Given the description of an element on the screen output the (x, y) to click on. 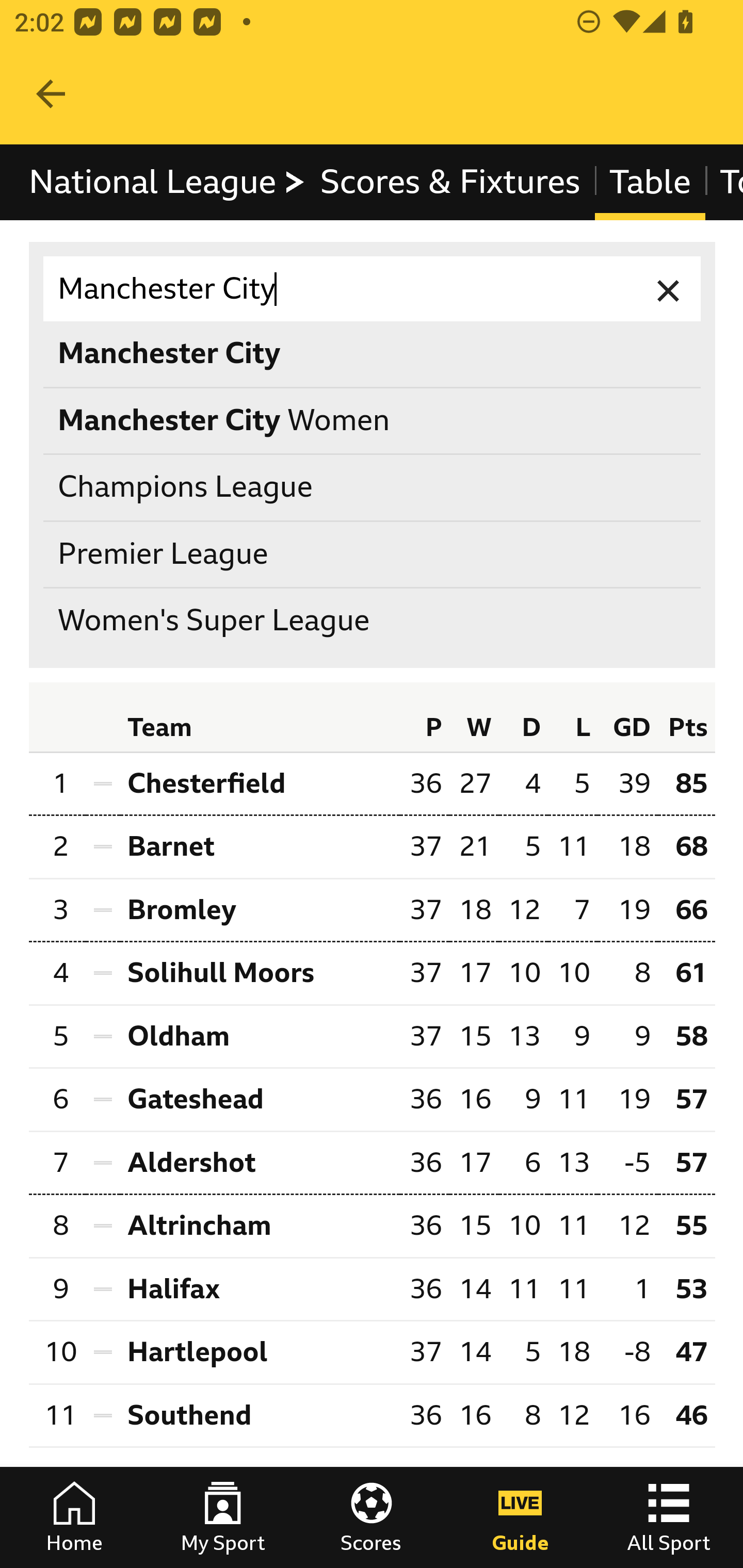
Navigate up (50, 93)
National League  (167, 181)
Scores & Fixtures (449, 181)
Table (649, 181)
Manchester City (372, 289)
Clear input (669, 289)
Manchester City Women Manchester City  Women (372, 419)
Champions League (372, 488)
Premier League (372, 554)
Women's Super League (372, 620)
Chesterfield (259, 783)
Barnet (259, 847)
Bromley (259, 910)
Solihull Moors (259, 973)
Oldham Oldham Athletic (259, 1035)
Gateshead (259, 1099)
Aldershot Aldershot Town (259, 1162)
Altrincham (259, 1224)
Halifax FC Halifax Town (259, 1289)
Hartlepool Hartlepool United (259, 1351)
Southend Southend United (259, 1415)
Home (74, 1517)
My Sport (222, 1517)
Scores (371, 1517)
All Sport (668, 1517)
